Given the description of an element on the screen output the (x, y) to click on. 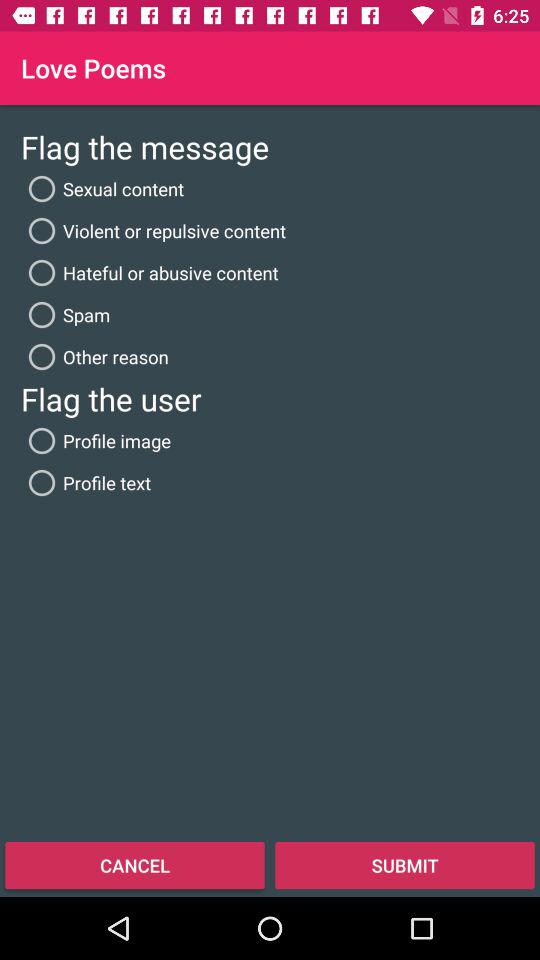
swipe to the profile text (86, 482)
